Given the description of an element on the screen output the (x, y) to click on. 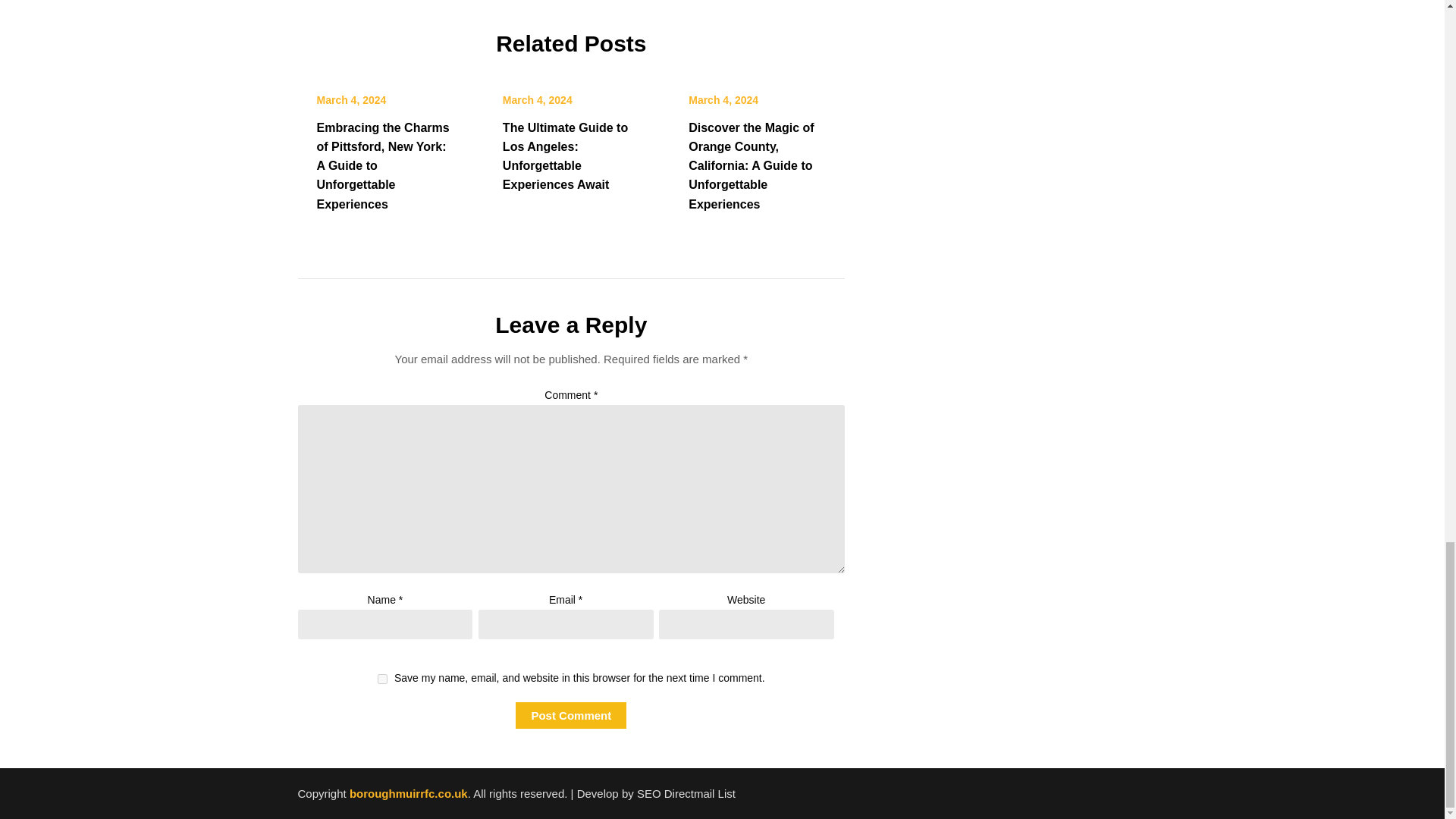
Post Comment (570, 714)
yes (382, 678)
Post Comment (570, 714)
